Given the description of an element on the screen output the (x, y) to click on. 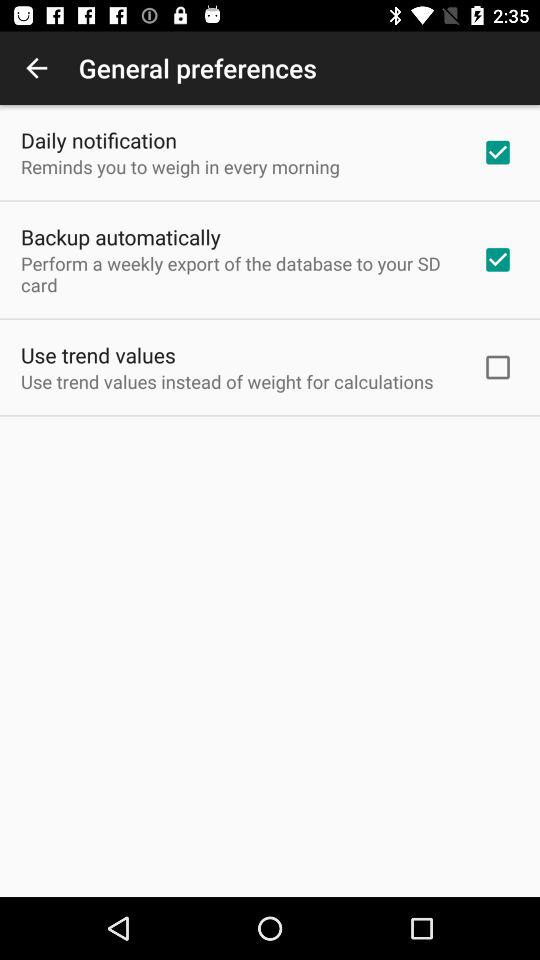
scroll to daily notification icon (98, 139)
